Given the description of an element on the screen output the (x, y) to click on. 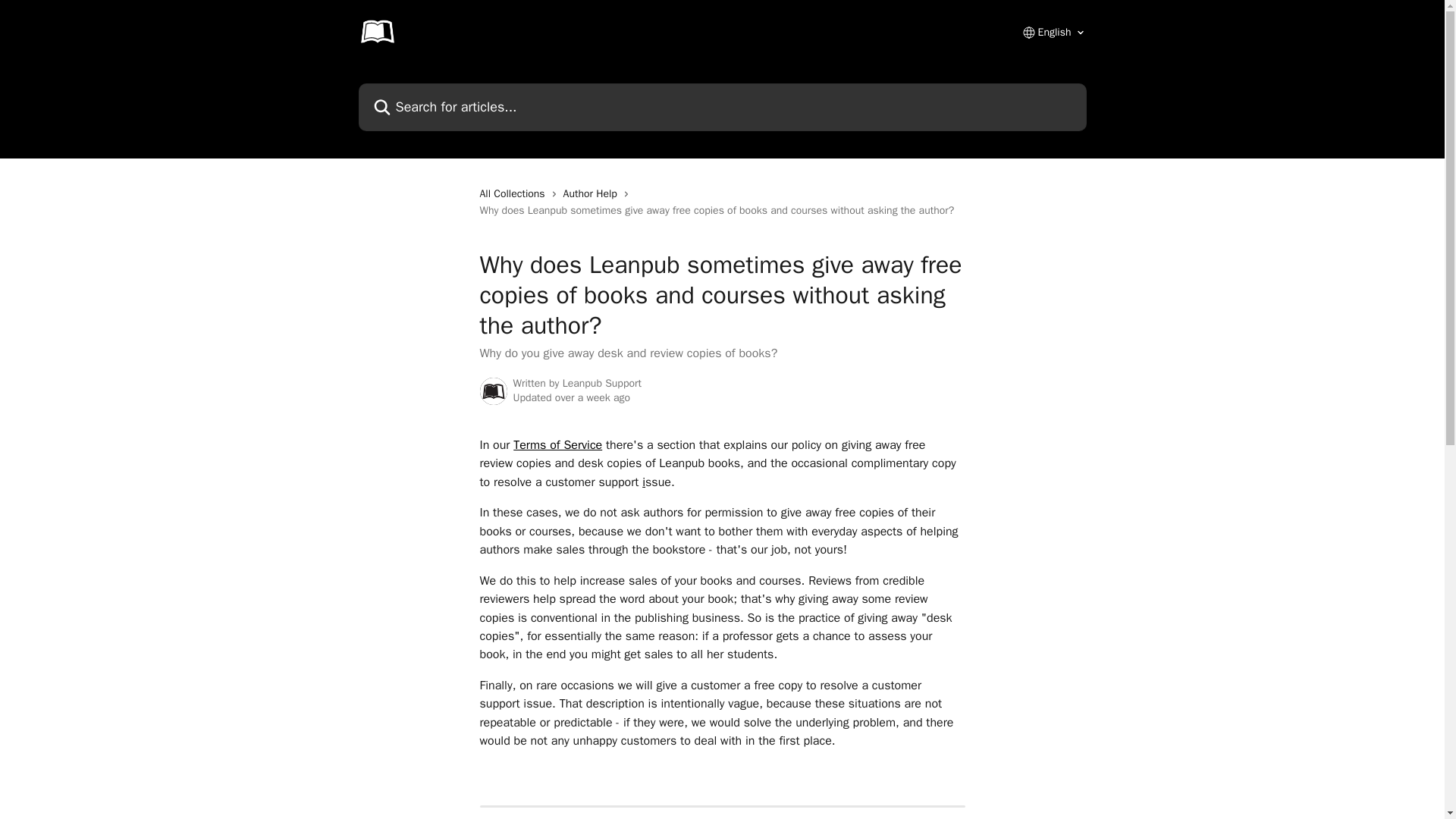
Author Help (593, 193)
All Collections (514, 193)
Terms of Service (557, 444)
